Given the description of an element on the screen output the (x, y) to click on. 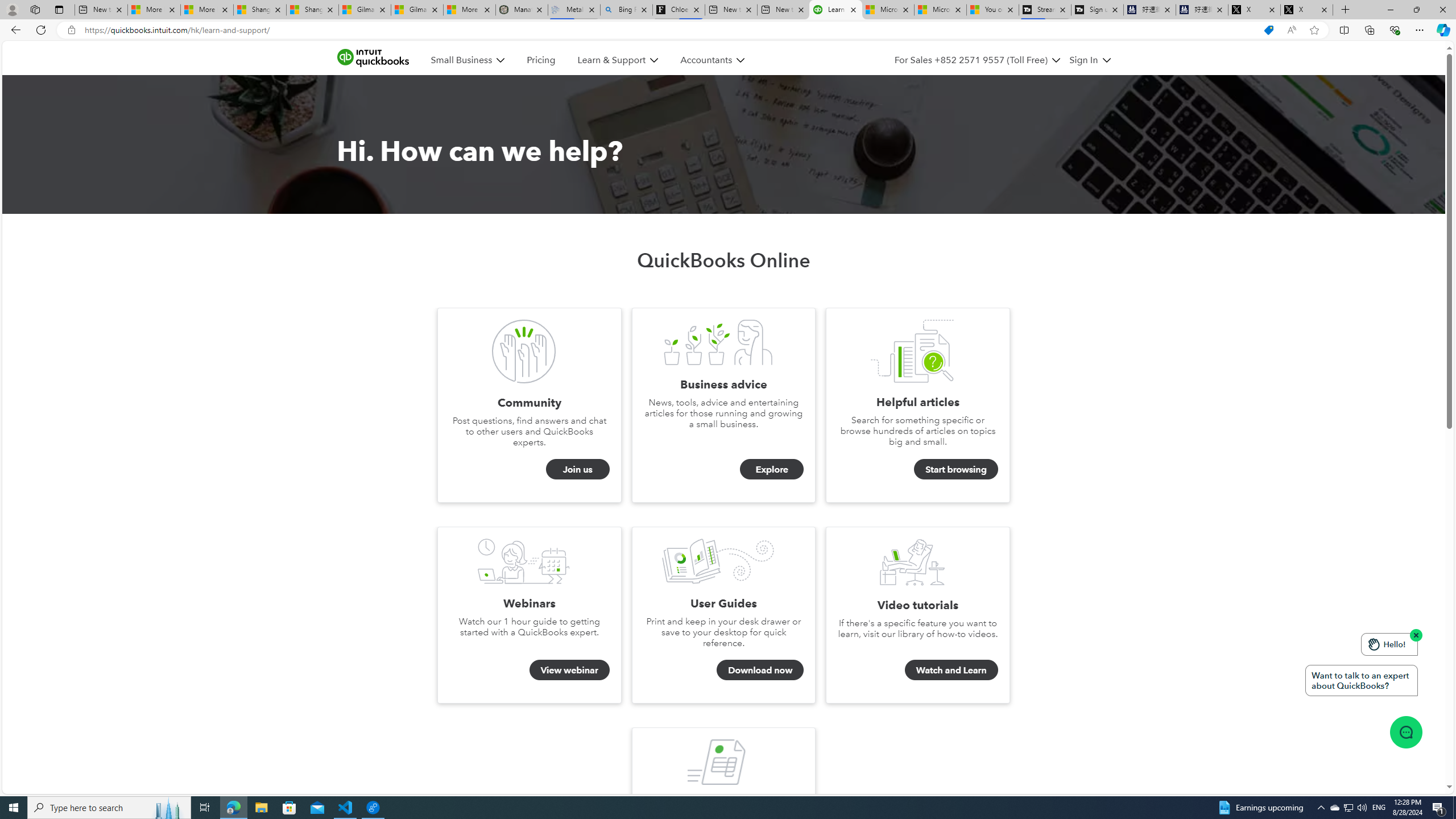
Explore (771, 468)
Small Business (467, 60)
